Given the description of an element on the screen output the (x, y) to click on. 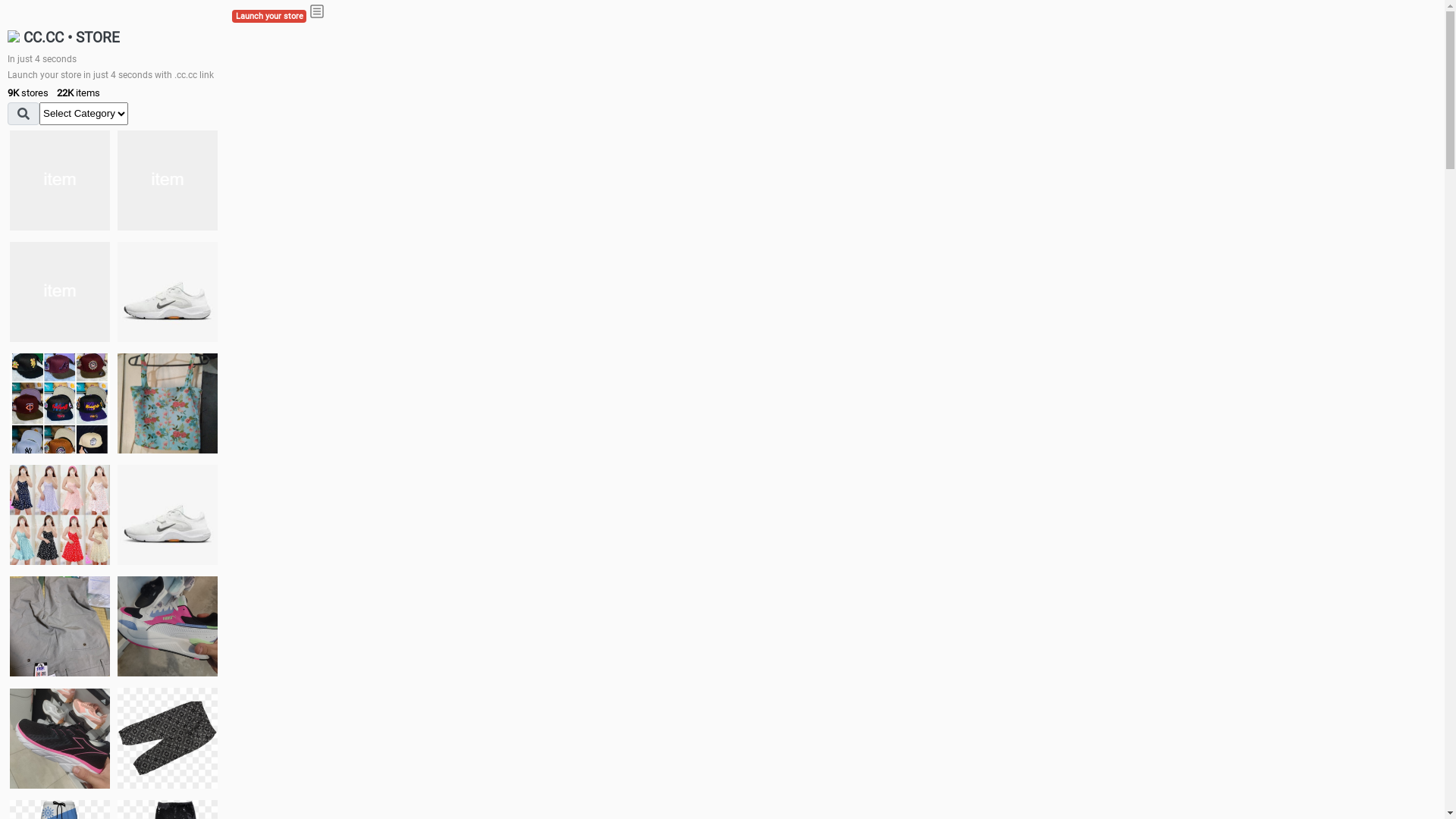
Things we need Element type: hover (59, 403)
white shoes Element type: hover (167, 180)
Shoes Element type: hover (167, 514)
Zapatillas Element type: hover (59, 738)
jacket Element type: hover (59, 180)
Short pant Element type: hover (167, 737)
Ukay cloth Element type: hover (167, 403)
Launch your store Element type: text (269, 15)
Zapatillas pumas Element type: hover (167, 626)
Shoes for boys Element type: hover (167, 291)
Dress/square nect top Element type: hover (59, 514)
shoes for boys Element type: hover (59, 291)
